Given the description of an element on the screen output the (x, y) to click on. 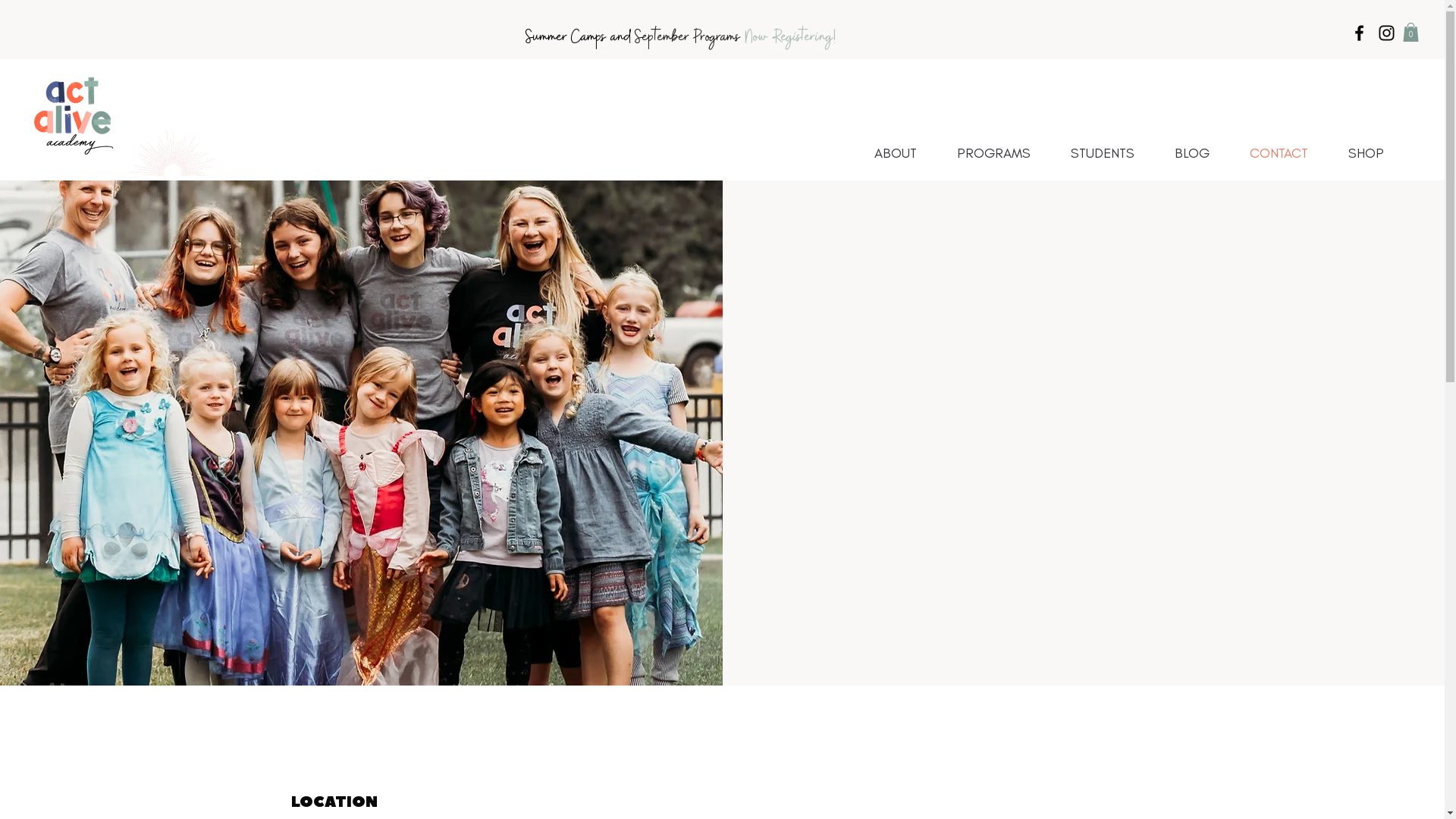
0 Element type: text (1410, 31)
BLOG Element type: text (1204, 152)
September Programs Element type: text (689, 36)
CONTACT Element type: text (1291, 152)
Now Registering! Element type: text (789, 36)
SHOP Element type: text (1378, 152)
